Given the description of an element on the screen output the (x, y) to click on. 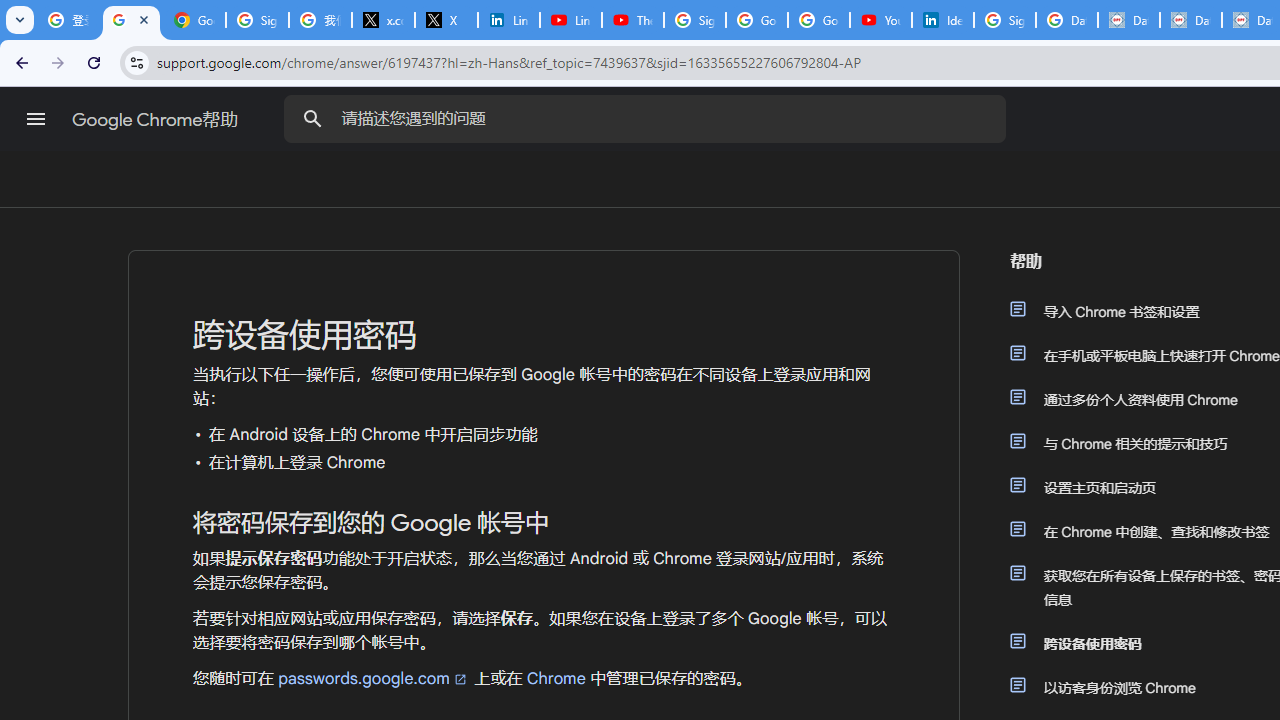
passwords.google.com (373, 678)
LinkedIn Privacy Policy (508, 20)
X (445, 20)
